Given the description of an element on the screen output the (x, y) to click on. 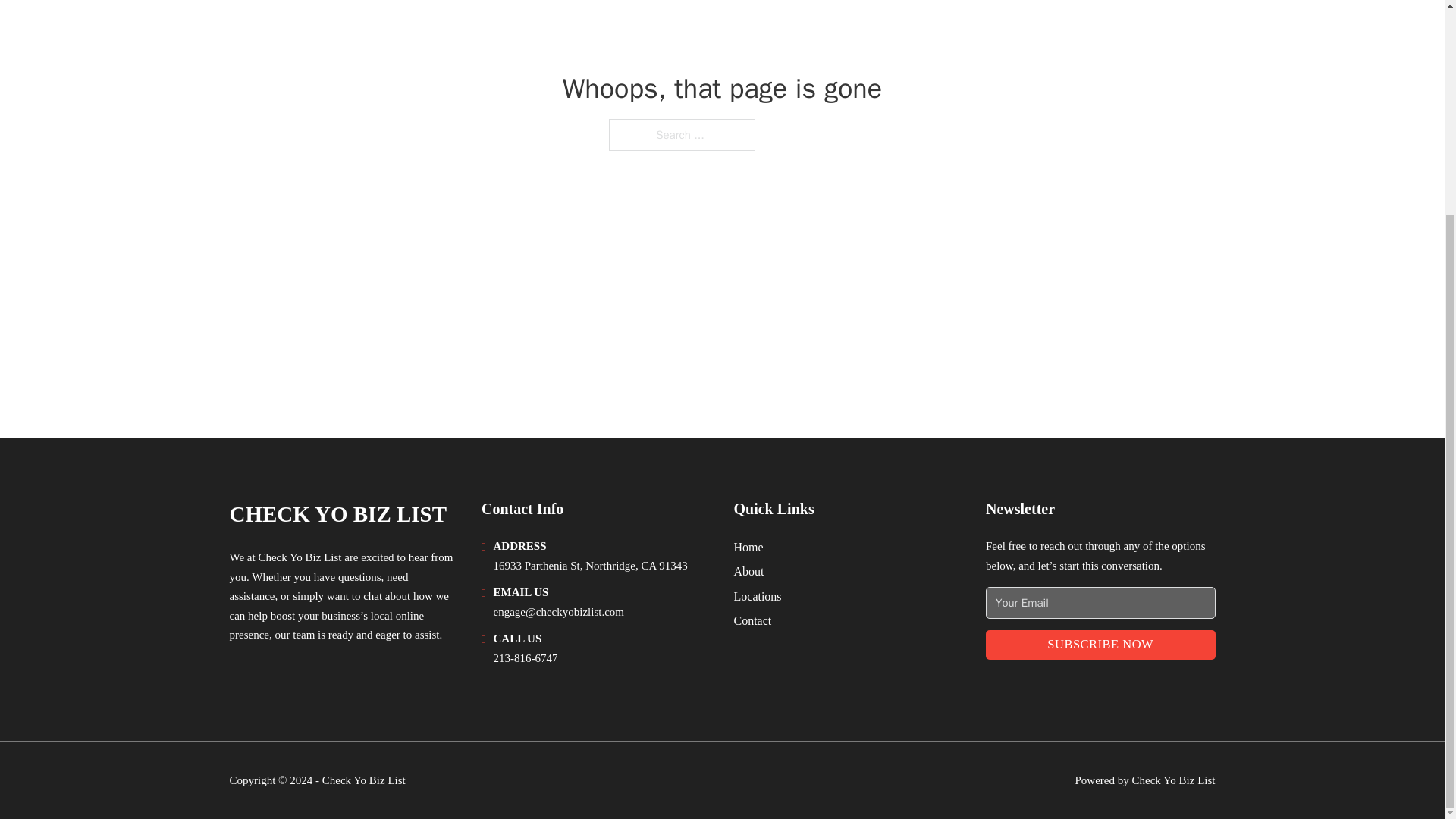
About (748, 571)
Home (747, 547)
Locations (757, 596)
Contact (752, 620)
SUBSCRIBE NOW (1100, 644)
CHECK YO BIZ LIST (337, 514)
